Given the description of an element on the screen output the (x, y) to click on. 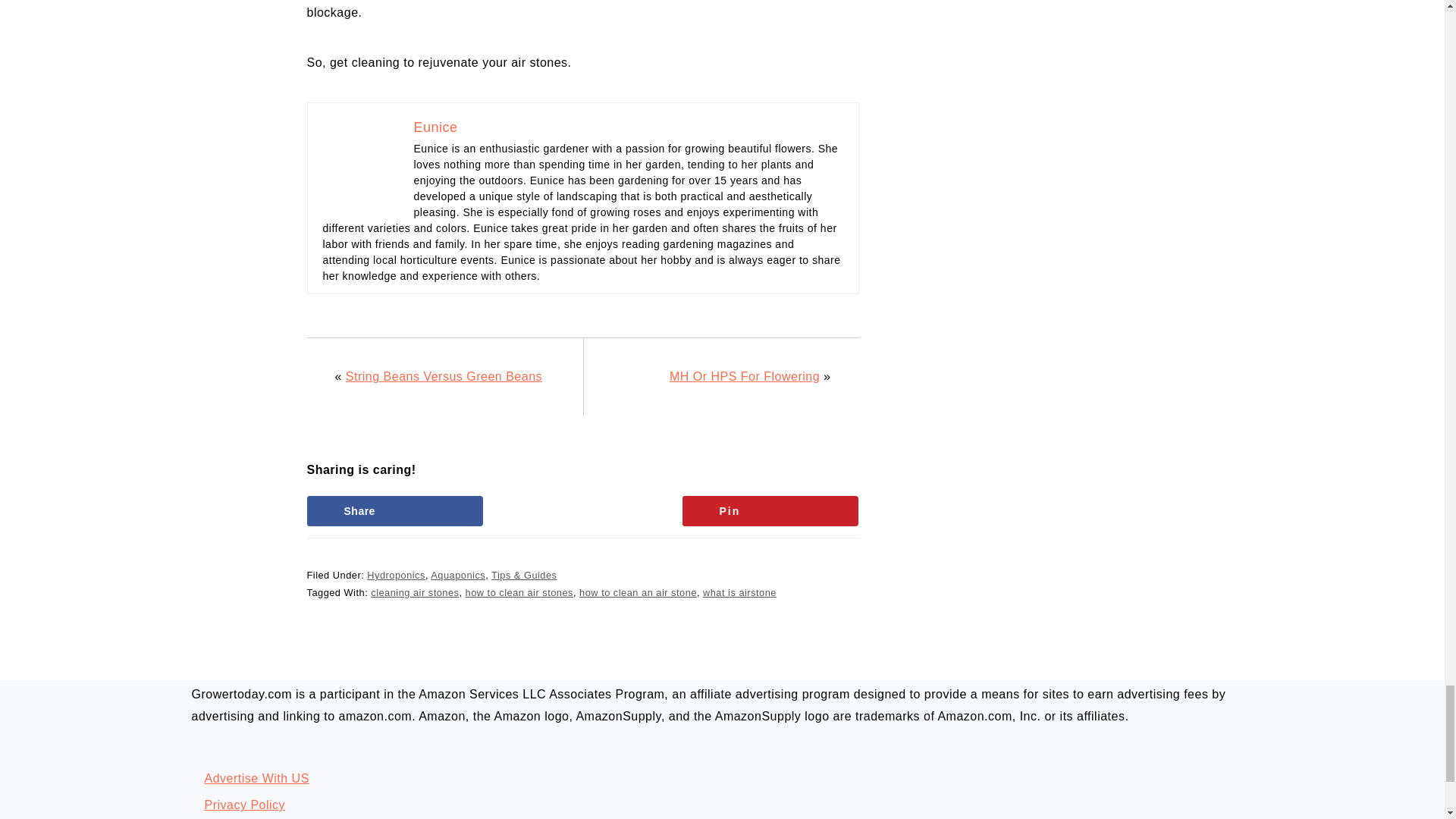
Share on X (583, 511)
String Beans Versus Green Beans (443, 376)
Eunice (435, 127)
Share on Facebook (394, 511)
MH Or HPS For Flowering (744, 376)
Save to Pinterest (770, 511)
